Given the description of an element on the screen output the (x, y) to click on. 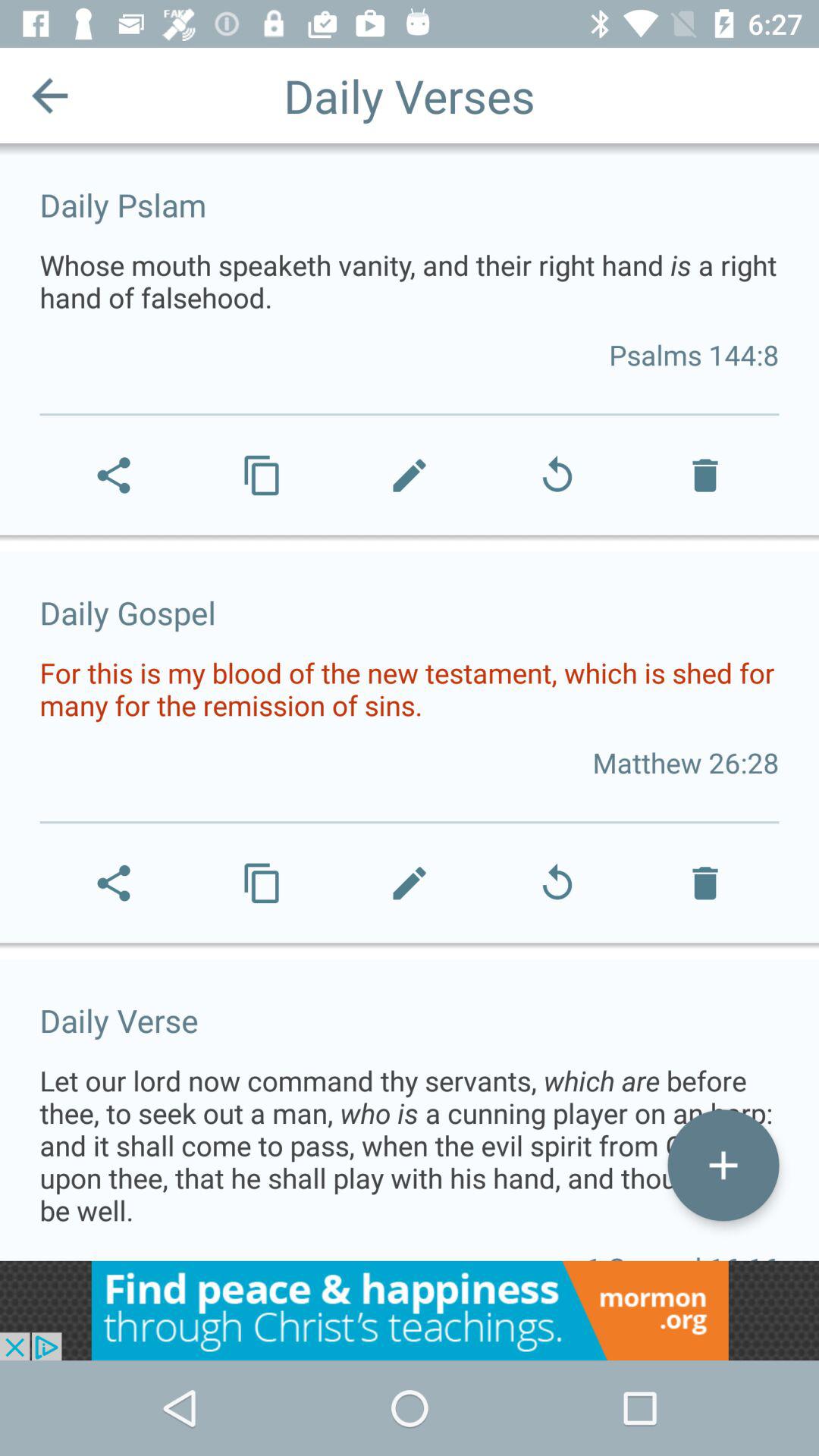
add to own opption (723, 1165)
